Given the description of an element on the screen output the (x, y) to click on. 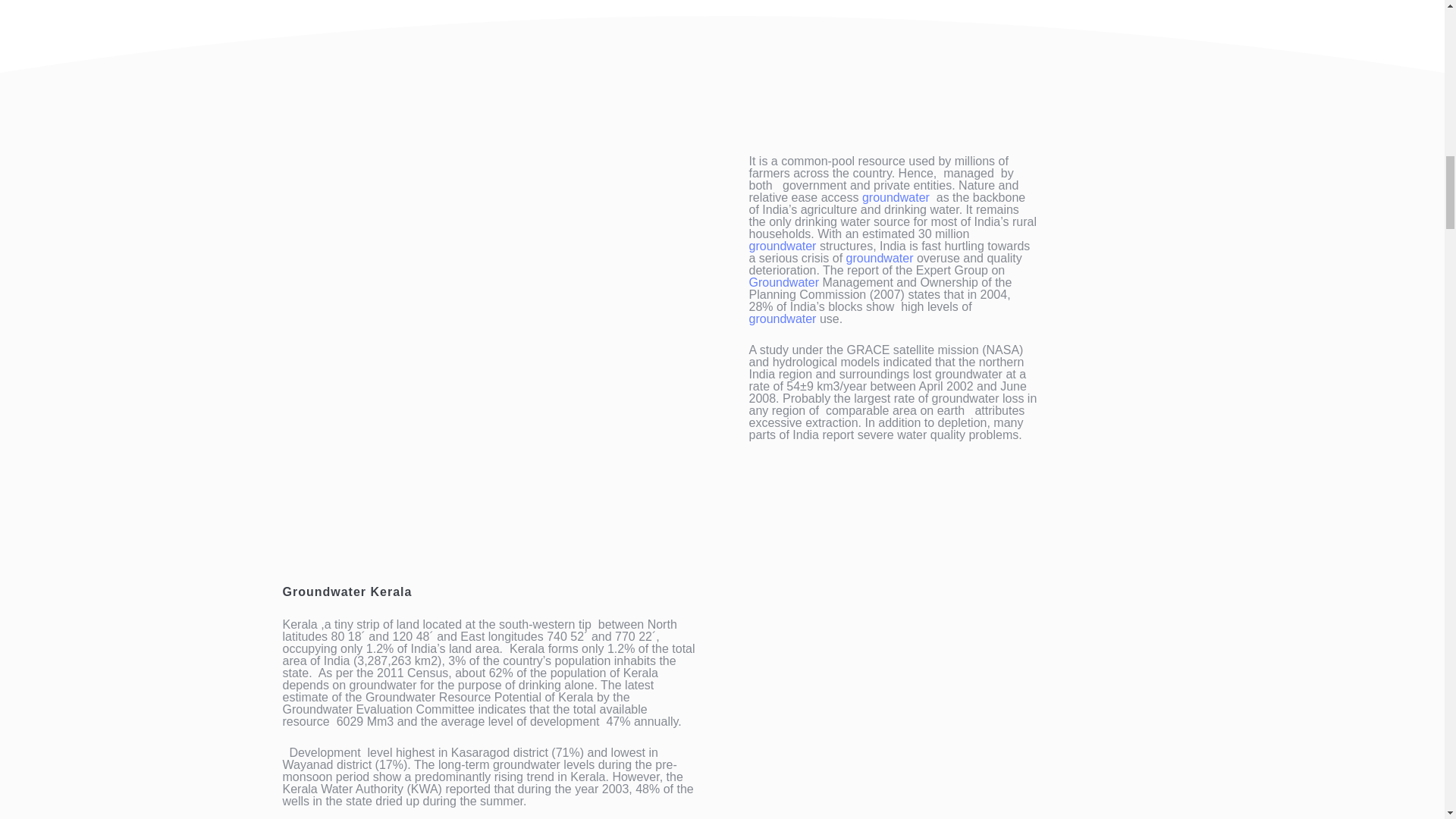
groundwater (895, 196)
Groundwater (784, 282)
groundwater (782, 318)
groundwater (782, 245)
groundwater (879, 257)
